Given the description of an element on the screen output the (x, y) to click on. 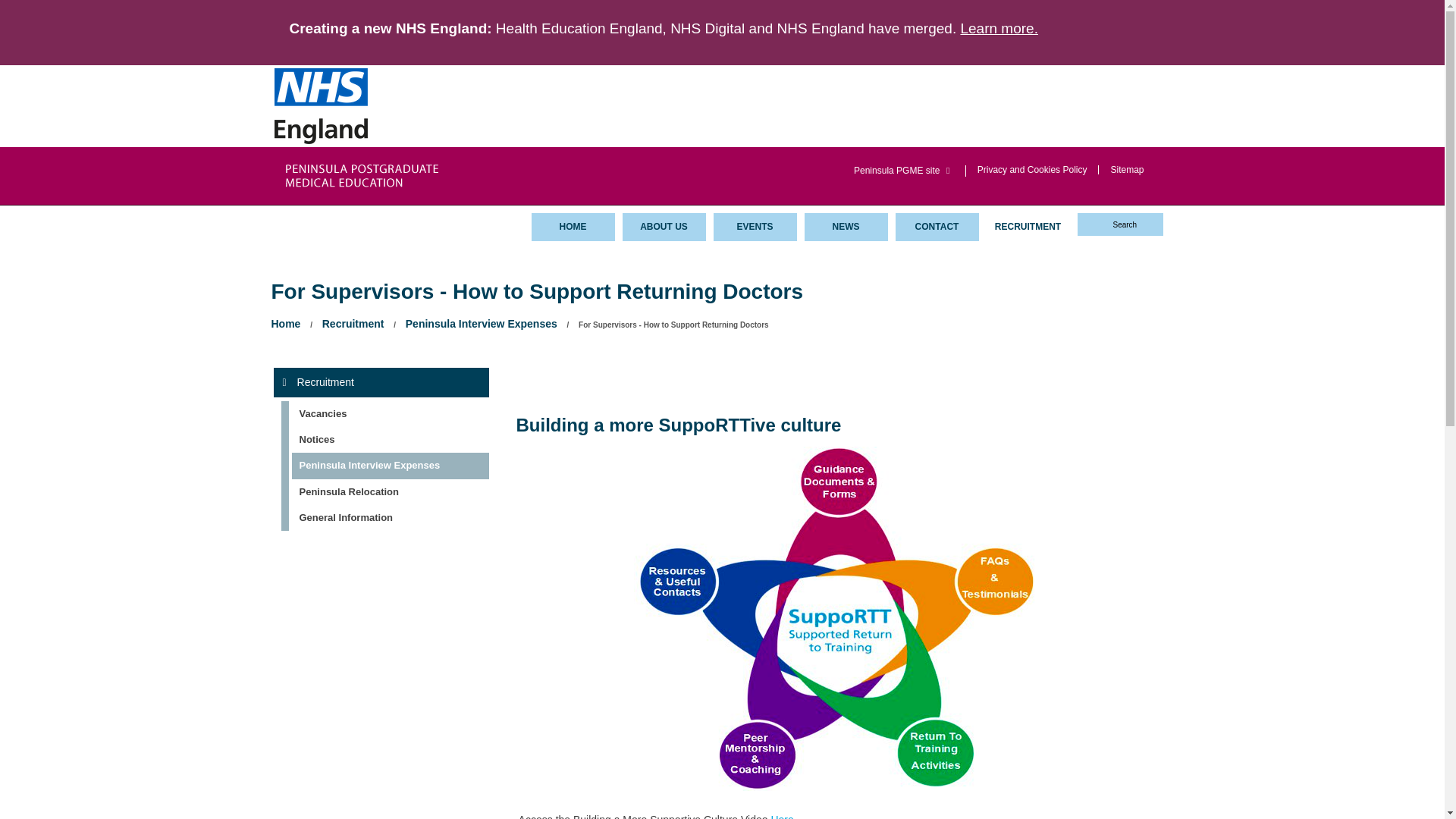
About us (662, 226)
Learn more. (997, 28)
Here (781, 816)
Go (10, 6)
Sitemap (1125, 168)
EVENTS (754, 226)
HOME (572, 226)
Peninsula Relocation (384, 492)
Peninsula Interview Expenses (384, 465)
Recruitment (380, 381)
